Given the description of an element on the screen output the (x, y) to click on. 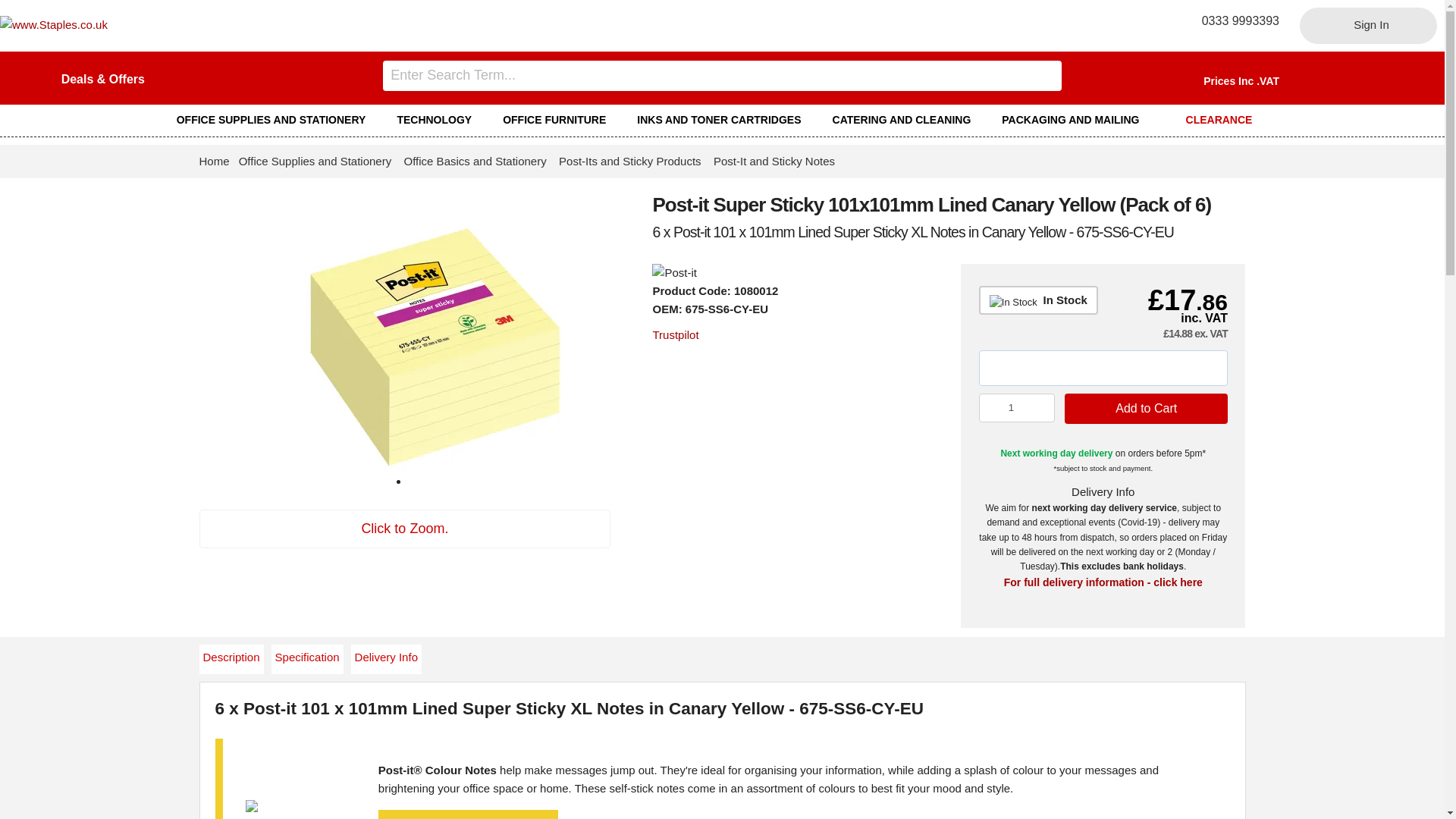
 0333 9993393 (1235, 20)
Coupon Corner (102, 78)
Office Supplies and Stationery Category (277, 119)
Telephone: 0333 9993393 (1235, 20)
OFFICE SUPPLIES AND STATIONERY (277, 119)
1 (1016, 407)
Staples.co.uk (53, 24)
Prices Inc .VAT (1241, 80)
Type keyword or product code (721, 75)
